Given the description of an element on the screen output the (x, y) to click on. 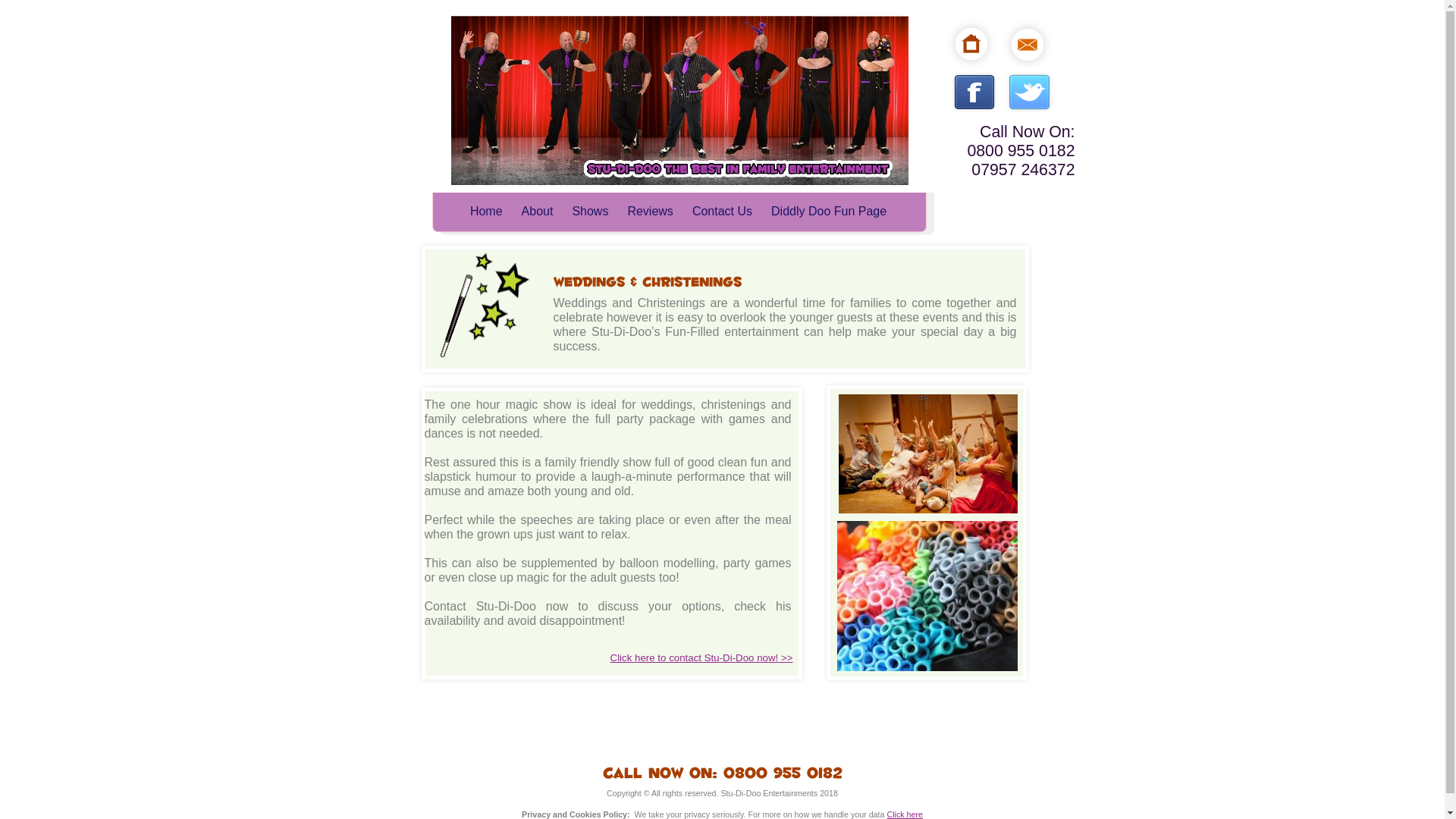
Diddly Doo Fun Page (828, 210)
Click here to contact Stu-Di-Doo now! (694, 657)
Reviews (649, 210)
Home (486, 210)
Contact Us (722, 210)
Shows (590, 210)
About (537, 210)
Click here (904, 814)
